Given the description of an element on the screen output the (x, y) to click on. 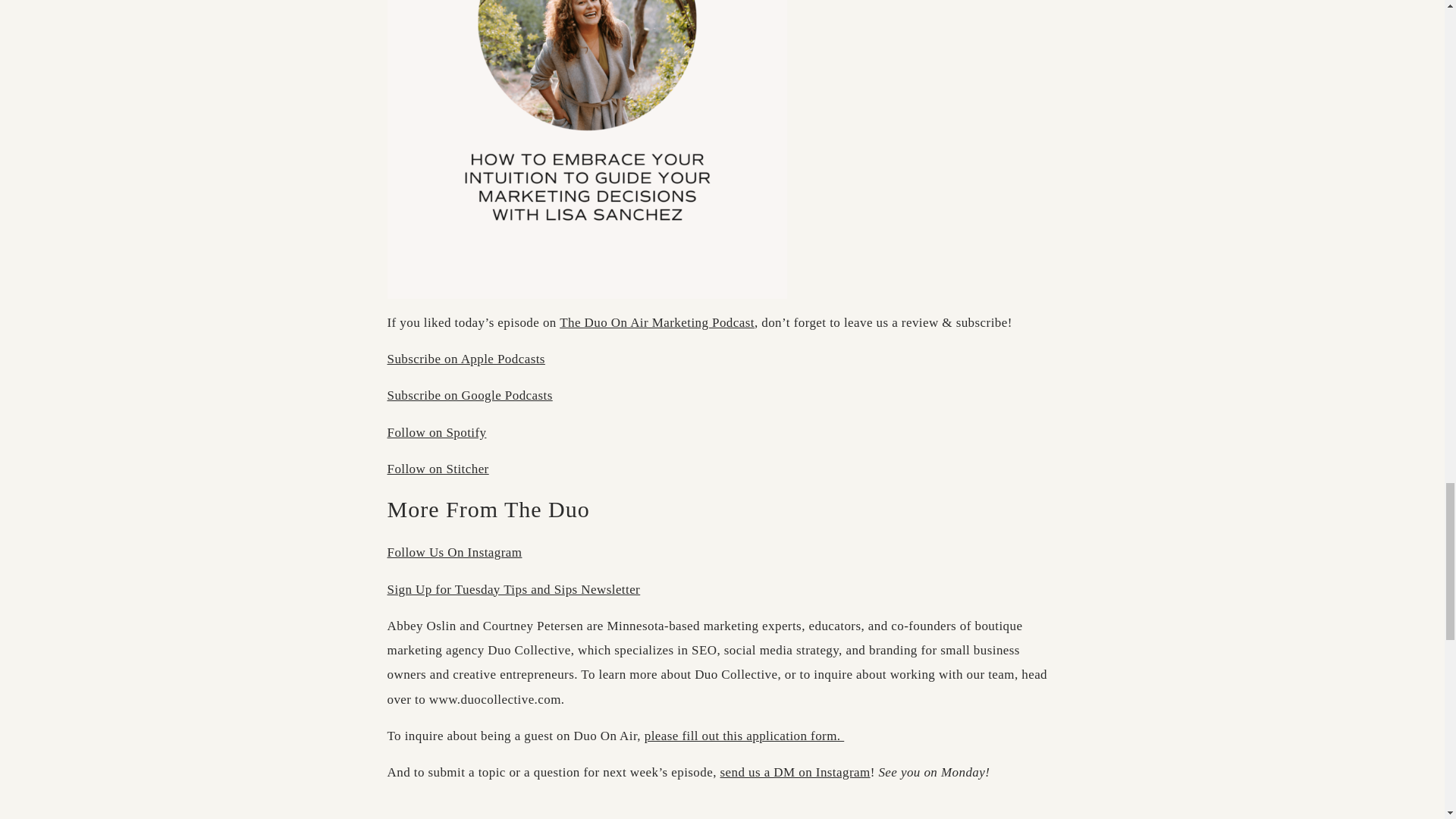
Follow on Spotify (436, 432)
The Duo On Air Marketing Podcast (656, 322)
send us a DM on Instagram (795, 771)
Follow Us On Instagram (454, 552)
Follow on Stitcher (437, 468)
Subscribe on Apple Podcasts (465, 359)
Sign Up for Tuesday Tips and Sips Newsletter (513, 589)
please fill out this application form.  (744, 735)
Subscribe on Google Podcasts (469, 395)
